Given the description of an element on the screen output the (x, y) to click on. 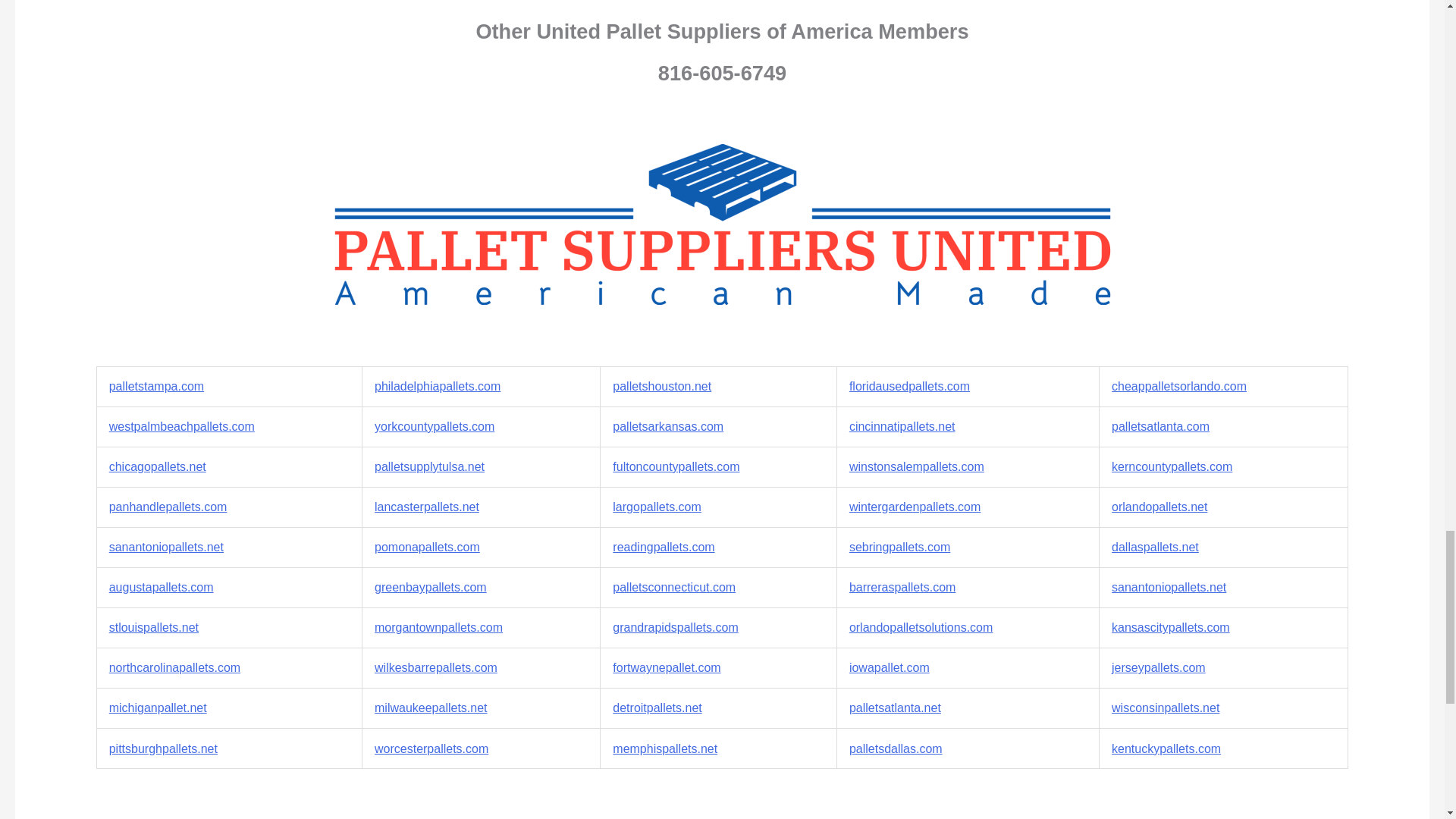
chicagopallets.net (157, 466)
fultoncountypallets.com (675, 466)
palletsupplytulsa.net (429, 466)
floridausedpallets.com (908, 386)
cincinnatipallets.net (901, 426)
cheappalletsorlando.com (1179, 386)
wintergardenpallets.com (913, 506)
panhandlepallets.com (168, 506)
palletshouston.net (661, 386)
lancasterpallets.net (426, 506)
